Given the description of an element on the screen output the (x, y) to click on. 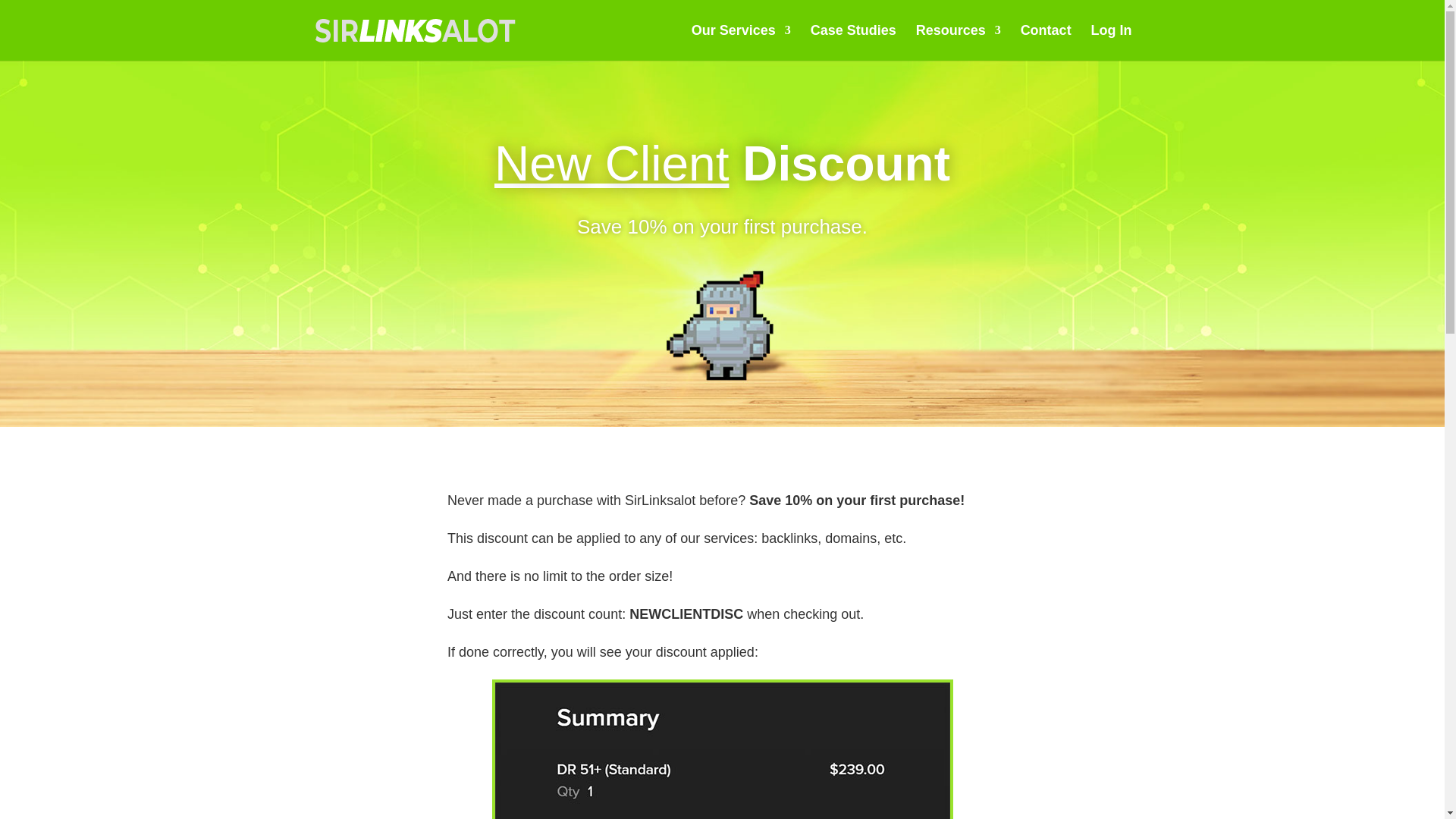
Contact (1045, 42)
Log In (1111, 42)
Our Services (740, 42)
Resources (958, 42)
new-client-discount-success (722, 750)
Case Studies (853, 42)
